Given the description of an element on the screen output the (x, y) to click on. 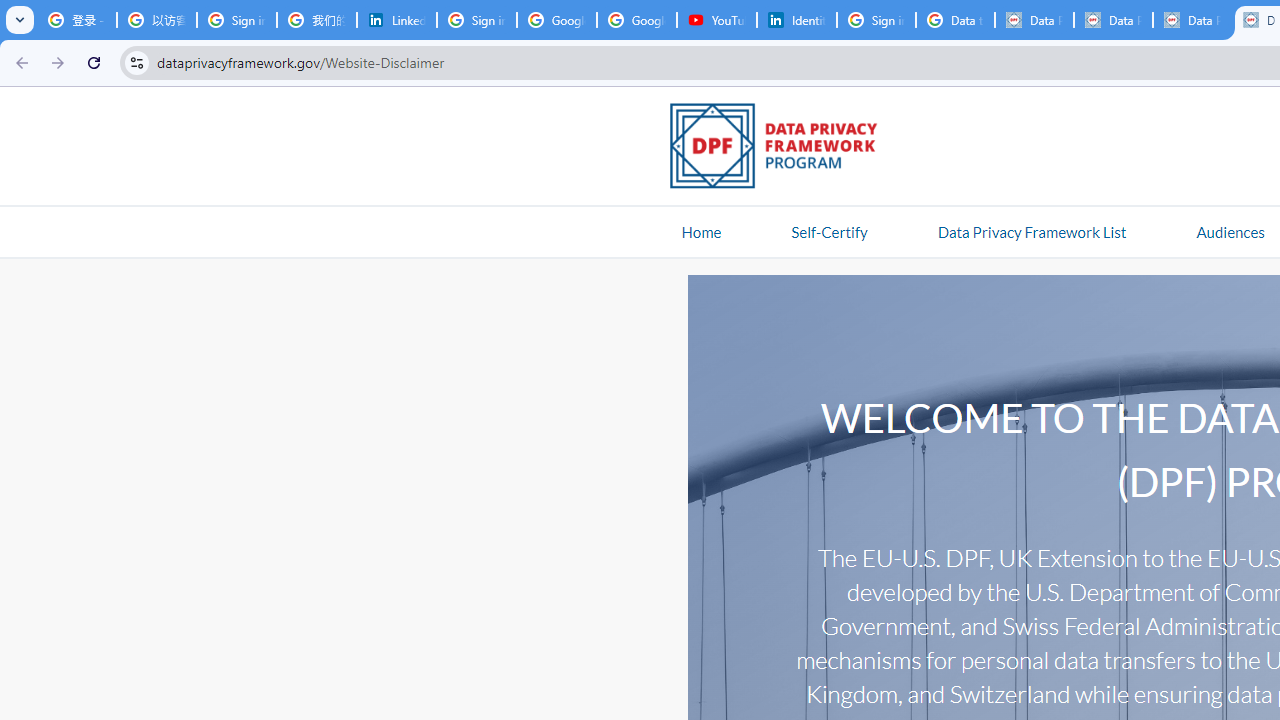
LinkedIn Privacy Policy (396, 20)
Sign in - Google Accounts (236, 20)
Self-Certify (829, 231)
Audiences (1230, 231)
